Given the description of an element on the screen output the (x, y) to click on. 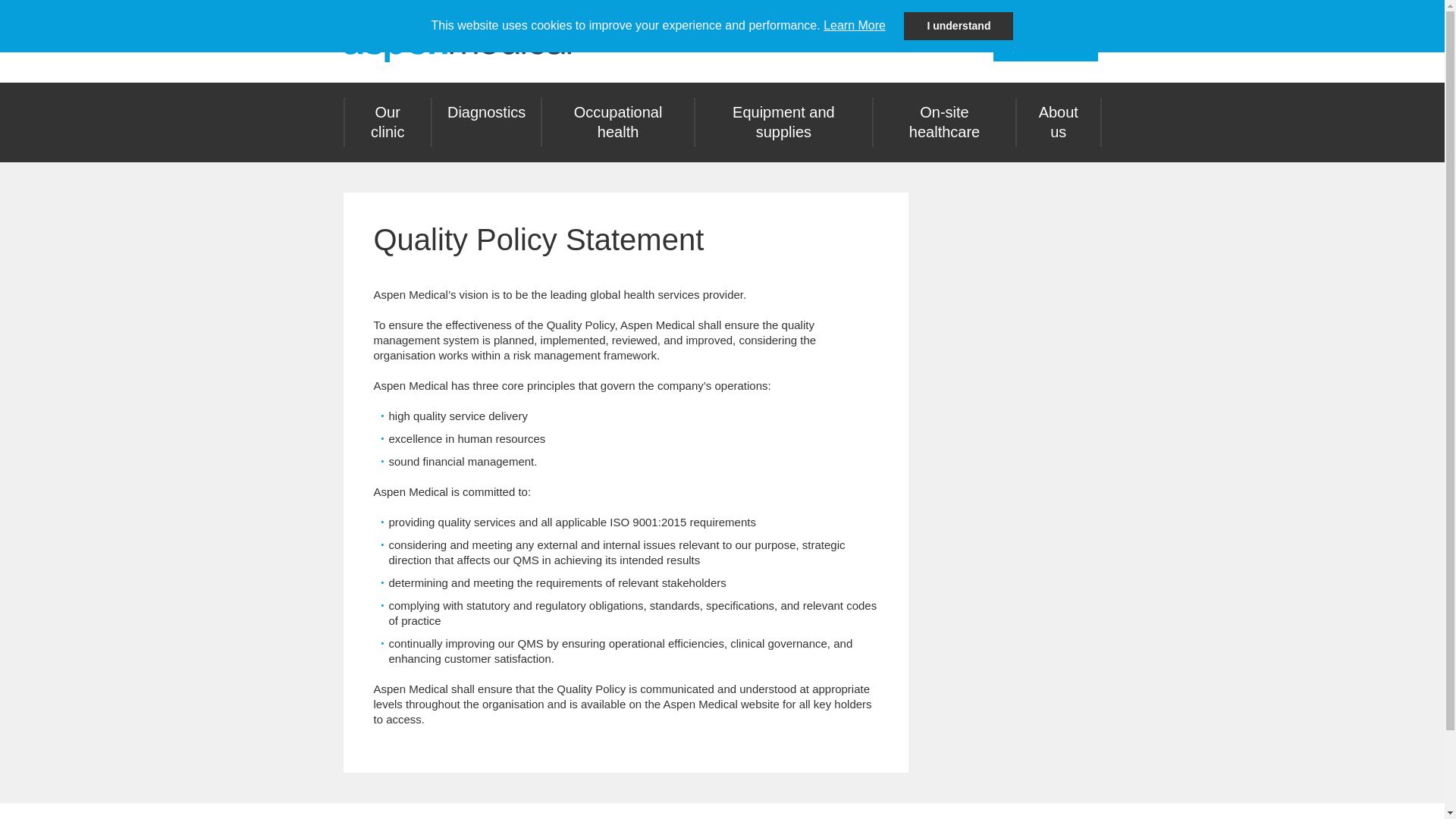
I understand (958, 26)
Occupational health (617, 122)
Learn More (854, 24)
Diagnostics (486, 112)
On-site healthcare (943, 122)
Contact Us (1044, 46)
Our clinic (386, 122)
About us (1057, 122)
Equipment and supplies (783, 122)
